Given the description of an element on the screen output the (x, y) to click on. 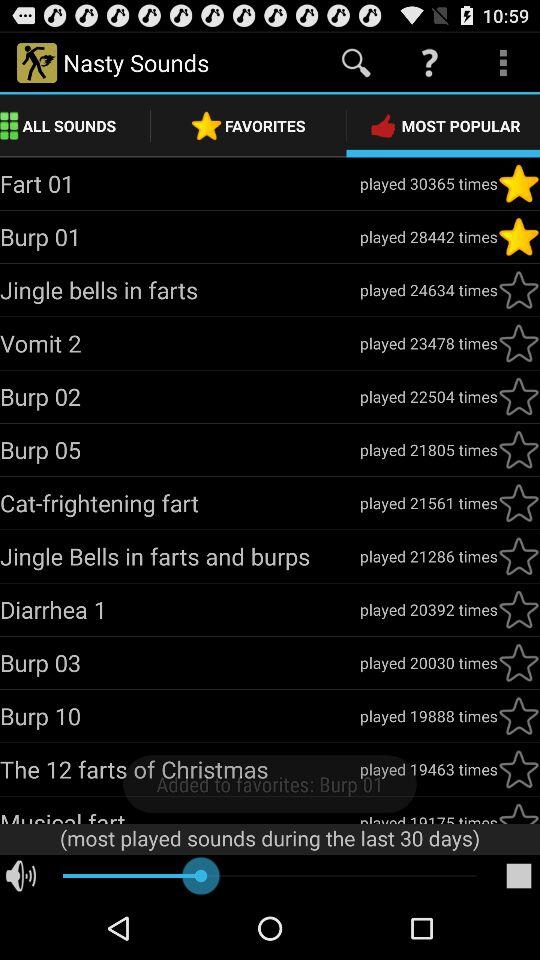
select favorite (519, 343)
